Given the description of an element on the screen output the (x, y) to click on. 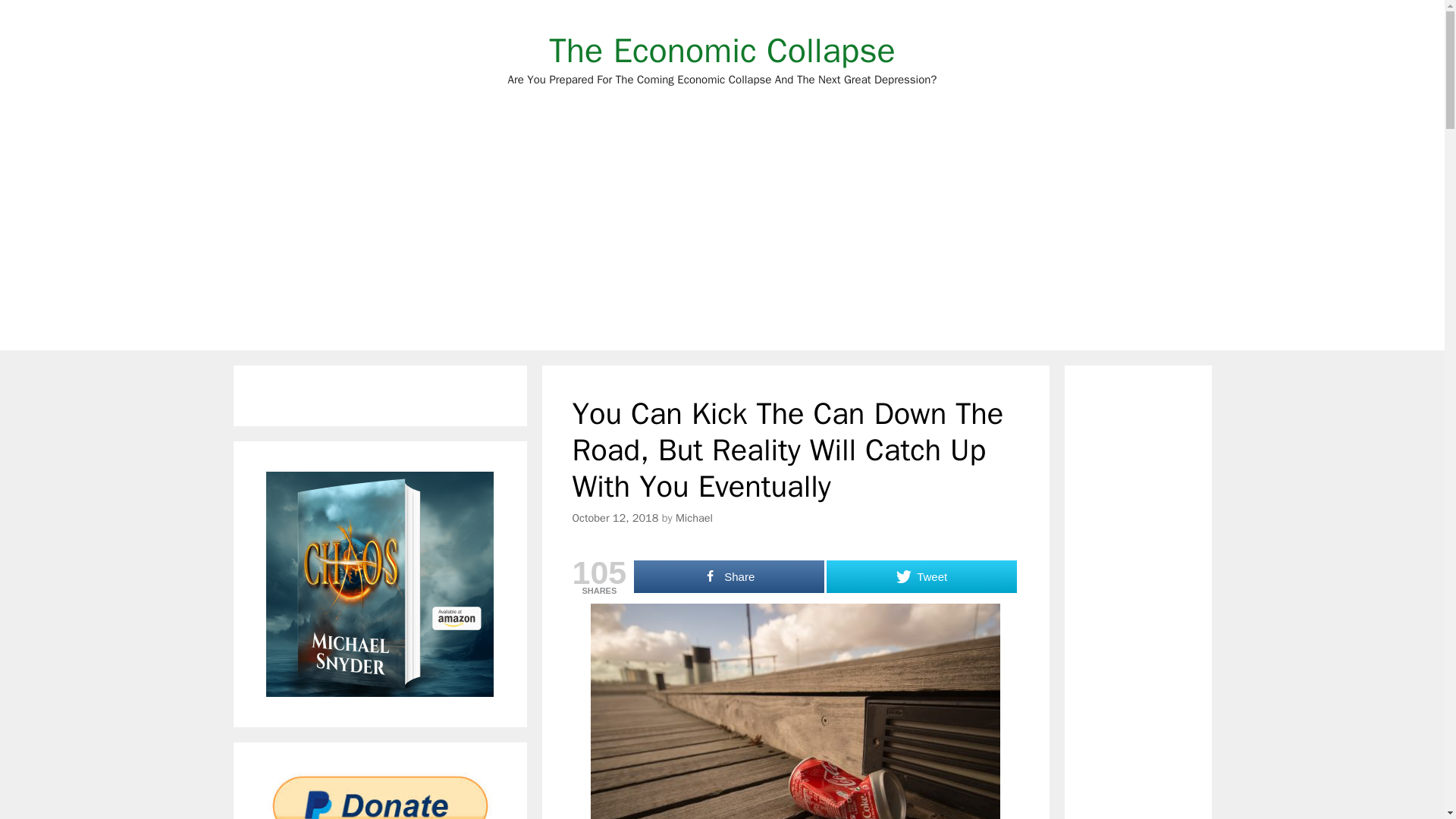
October 12, 2018 (615, 517)
Tweet (921, 576)
Tweet (921, 576)
Michael (694, 517)
Skip to content (721, 50)
Advertisement (721, 50)
